Given the description of an element on the screen output the (x, y) to click on. 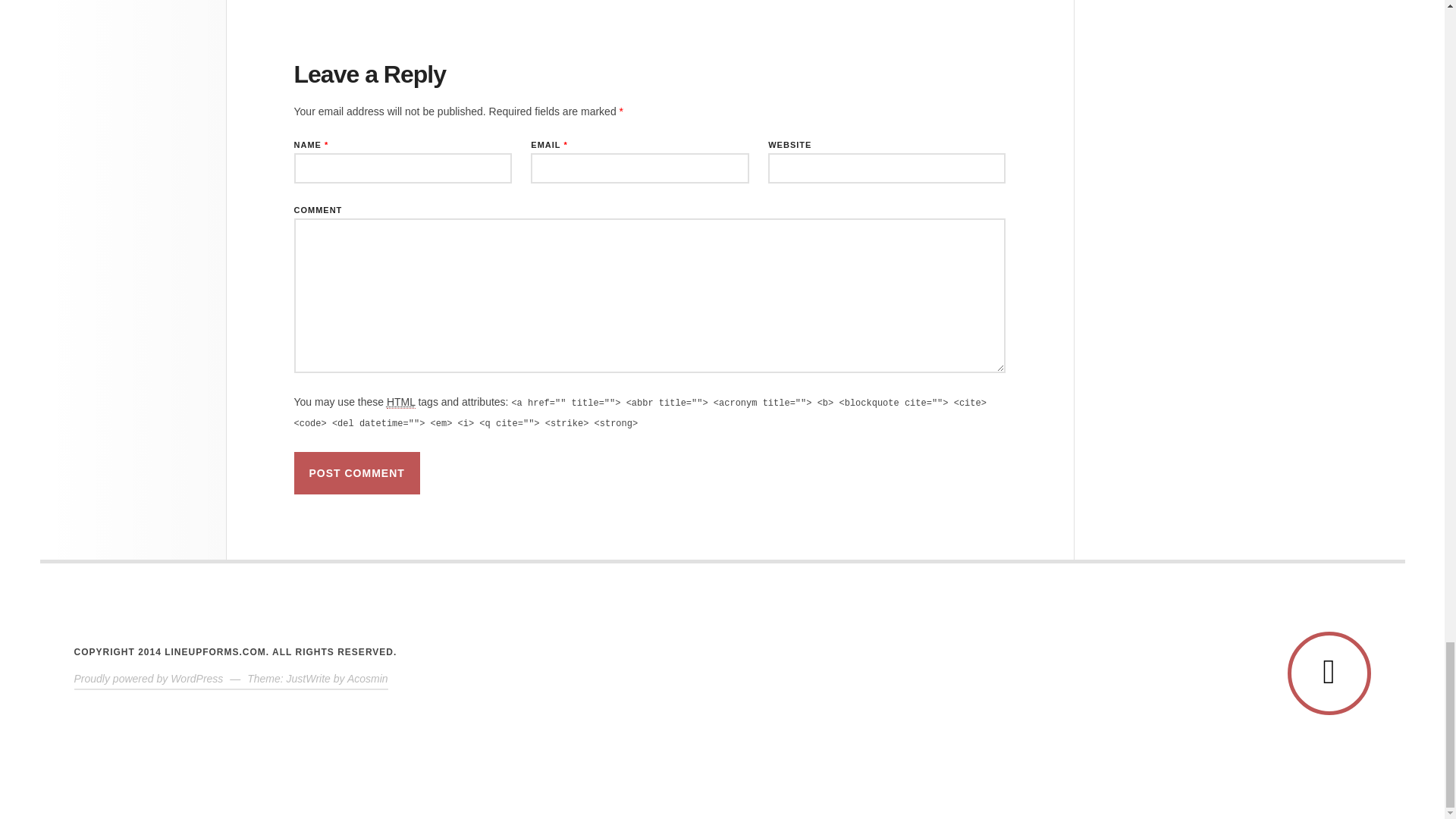
Post Comment (357, 473)
HyperText Markup Language (400, 401)
